Given the description of an element on the screen output the (x, y) to click on. 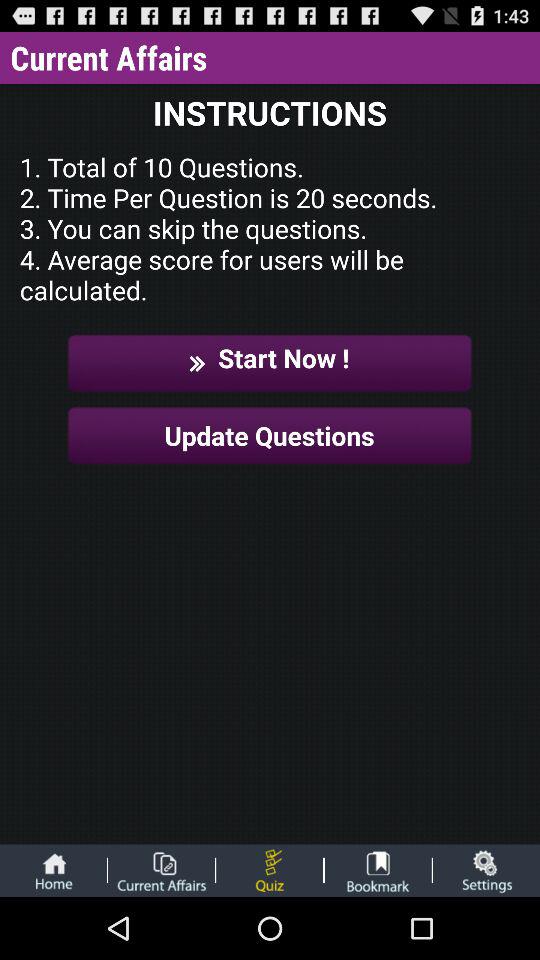
go to home page (53, 870)
